Given the description of an element on the screen output the (x, y) to click on. 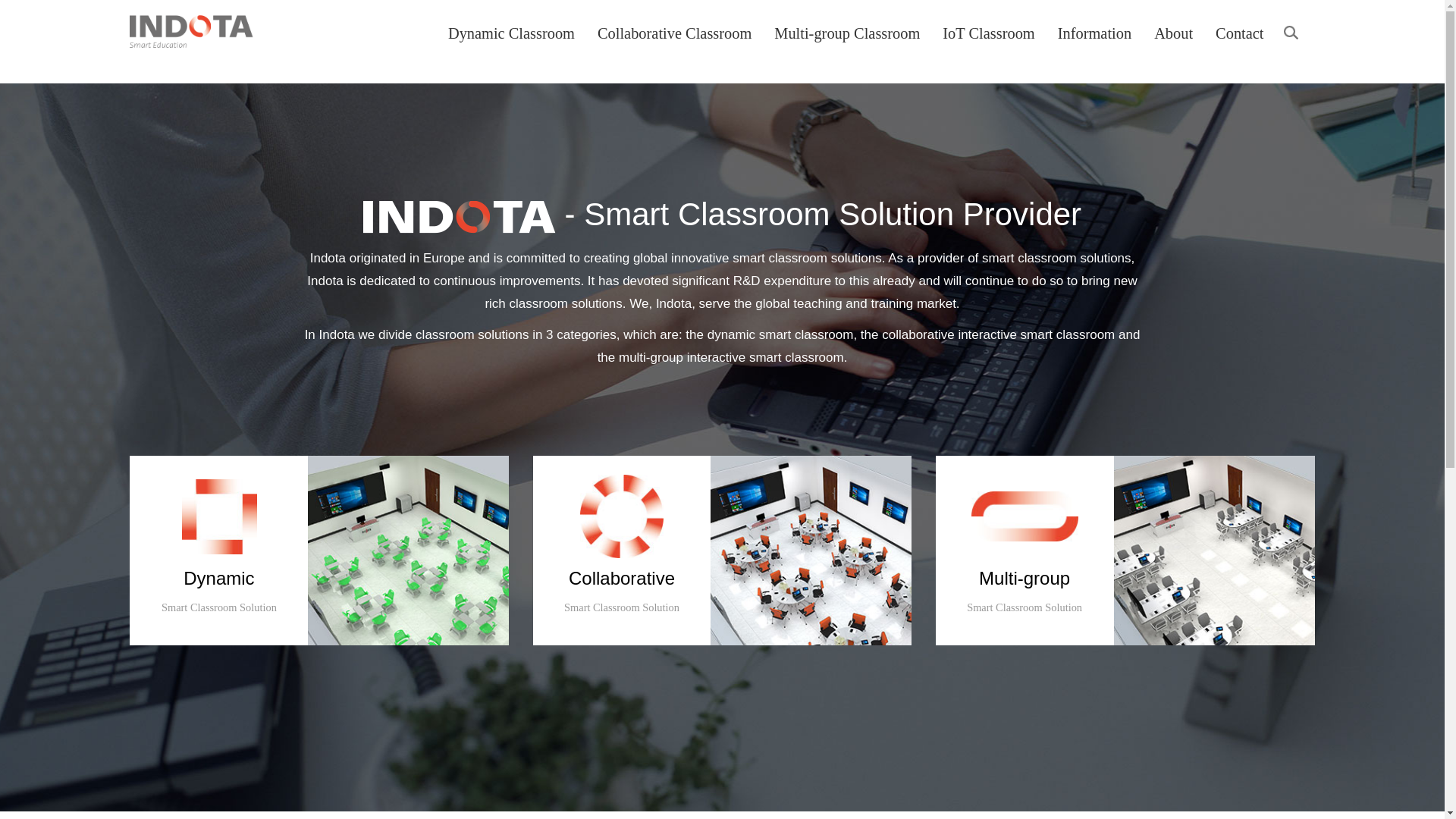
About (1173, 32)
Information (1094, 32)
Multi-group Classroom (846, 32)
Dynamic Classroom (511, 32)
Contact (1239, 32)
Collaborative Classroom (674, 32)
IoT Classroom (988, 32)
